Given the description of an element on the screen output the (x, y) to click on. 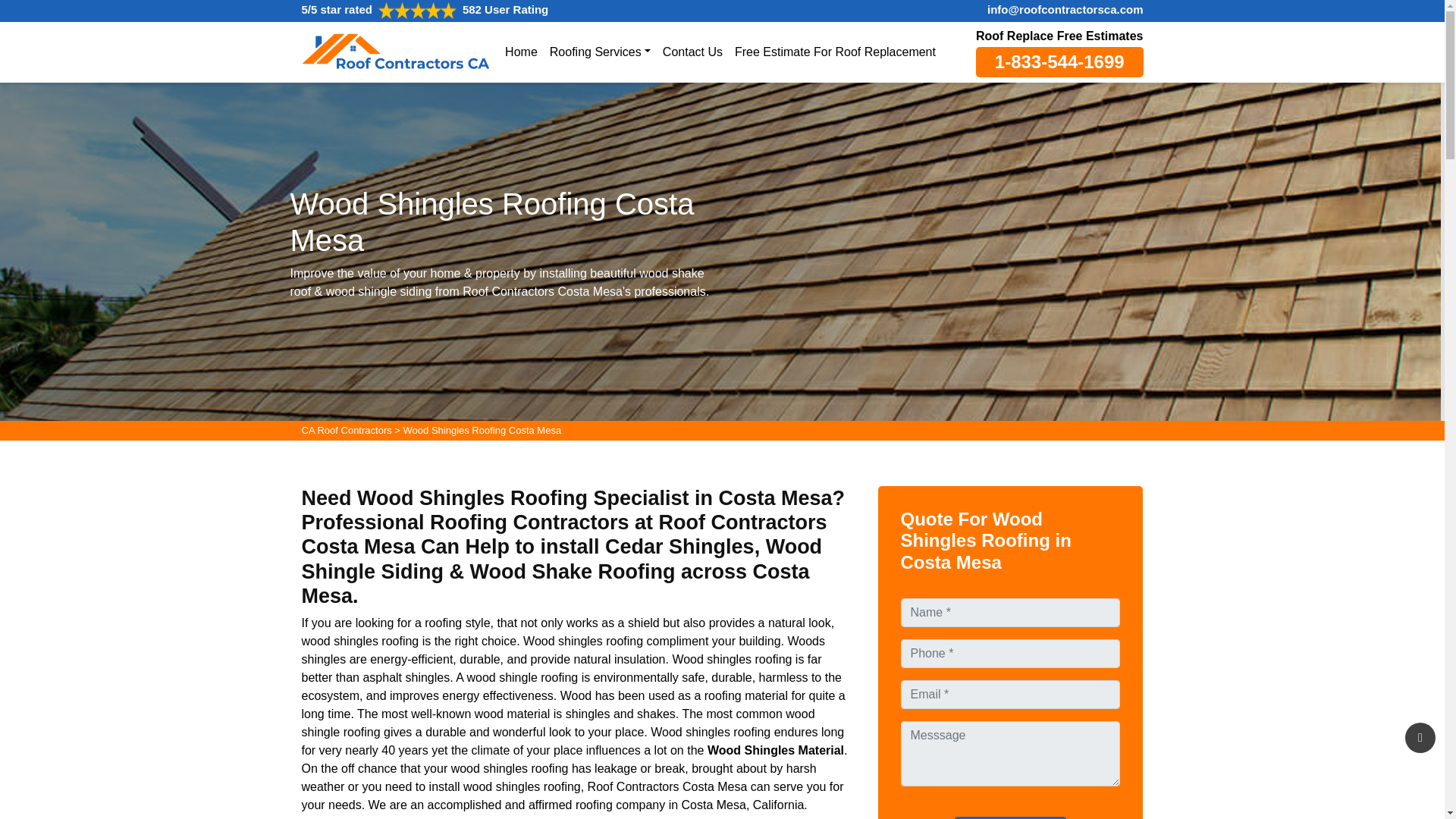
Home (521, 51)
Roofing Services (599, 51)
Wood Shingles Roofing Costa Mesa (482, 430)
Contact Us (692, 51)
1-833-544-1699 (1058, 61)
CA Roof Contractors (346, 430)
Free Estimate For Roof Replacement (835, 51)
Submit Now (1010, 817)
